Given the description of an element on the screen output the (x, y) to click on. 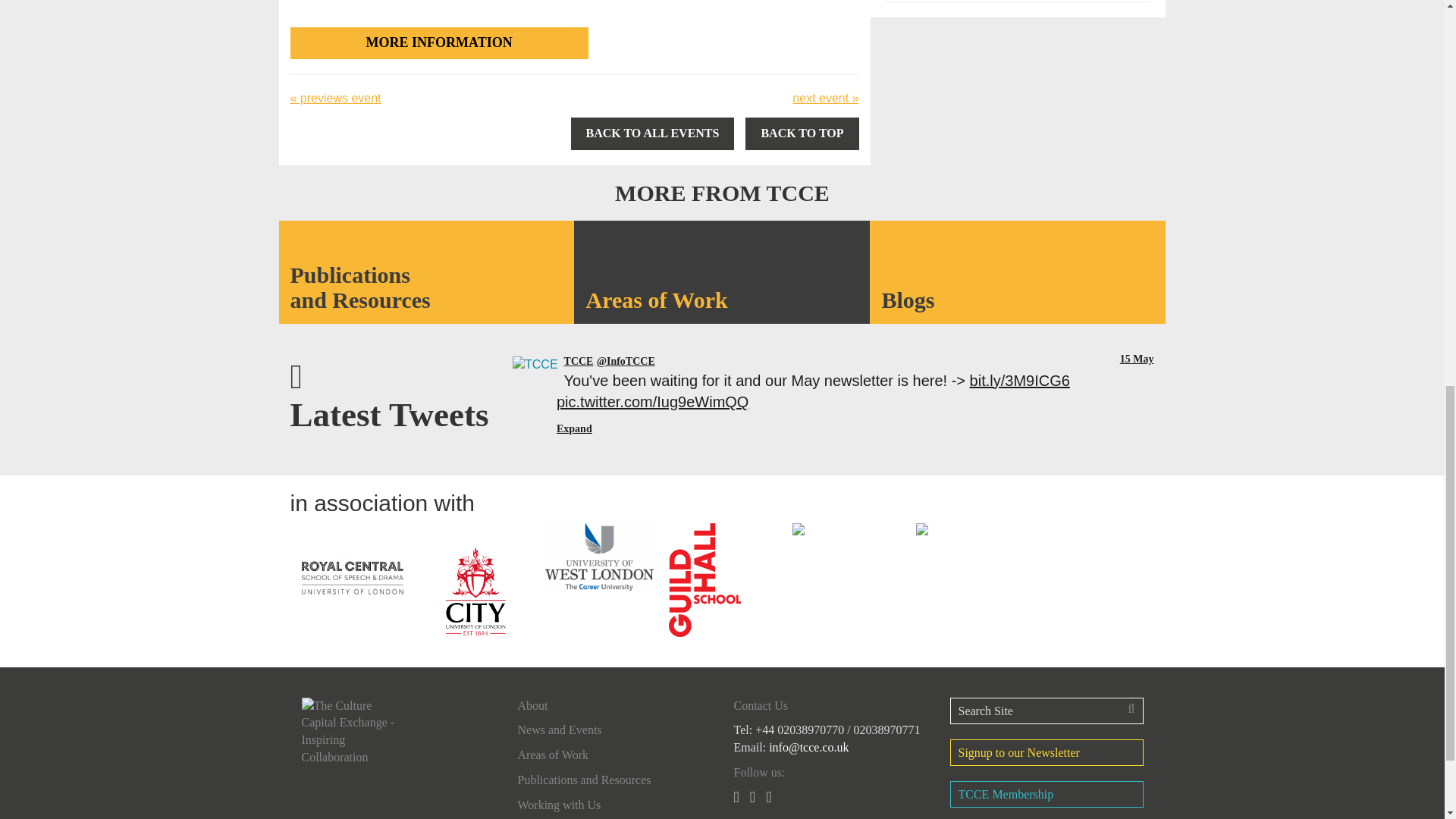
TCCE (579, 360)
TCCE (625, 360)
TCCE (534, 361)
